Given the description of an element on the screen output the (x, y) to click on. 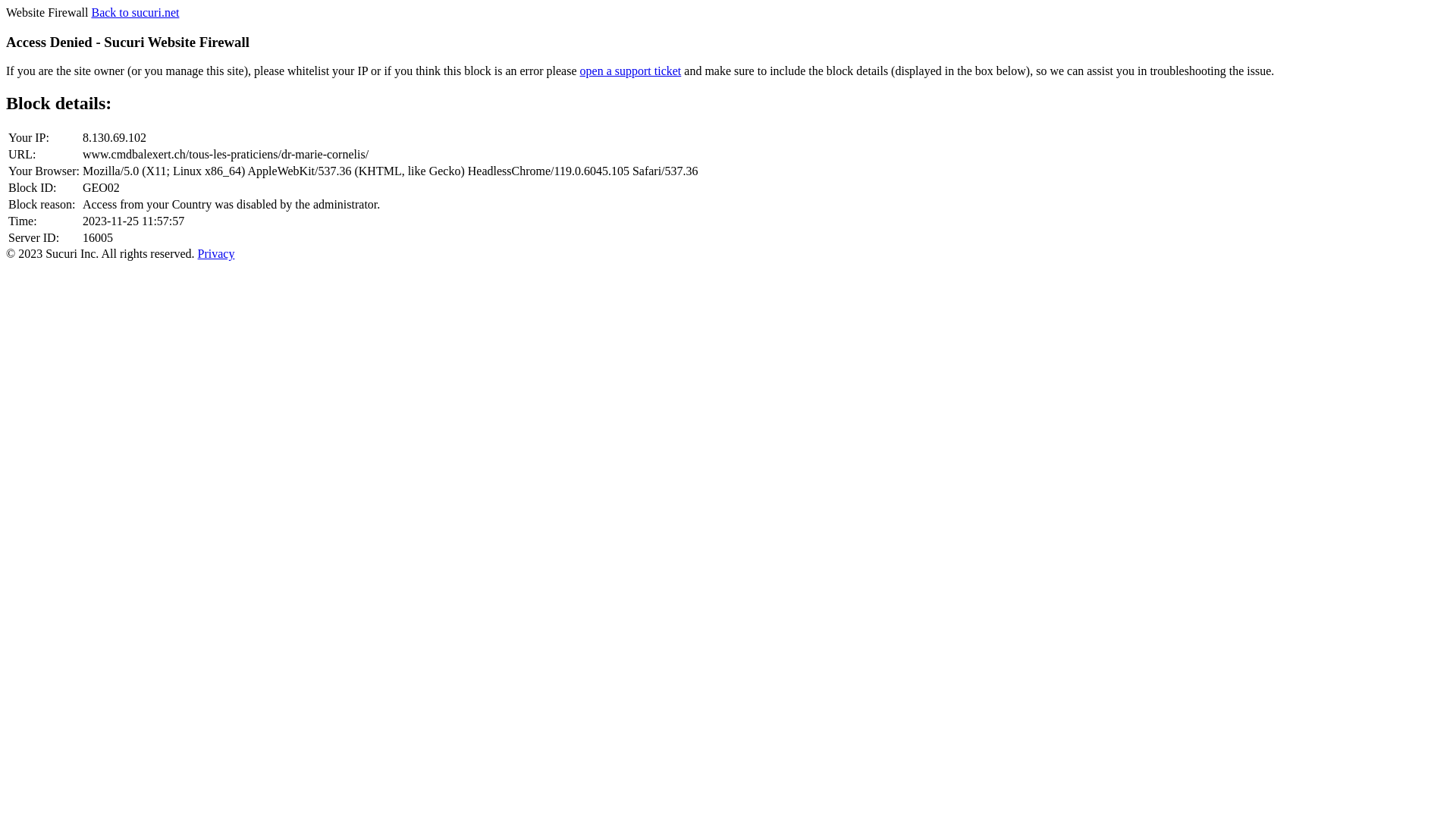
Back to sucuri.net Element type: text (134, 12)
open a support ticket Element type: text (630, 70)
Privacy Element type: text (216, 253)
